Given the description of an element on the screen output the (x, y) to click on. 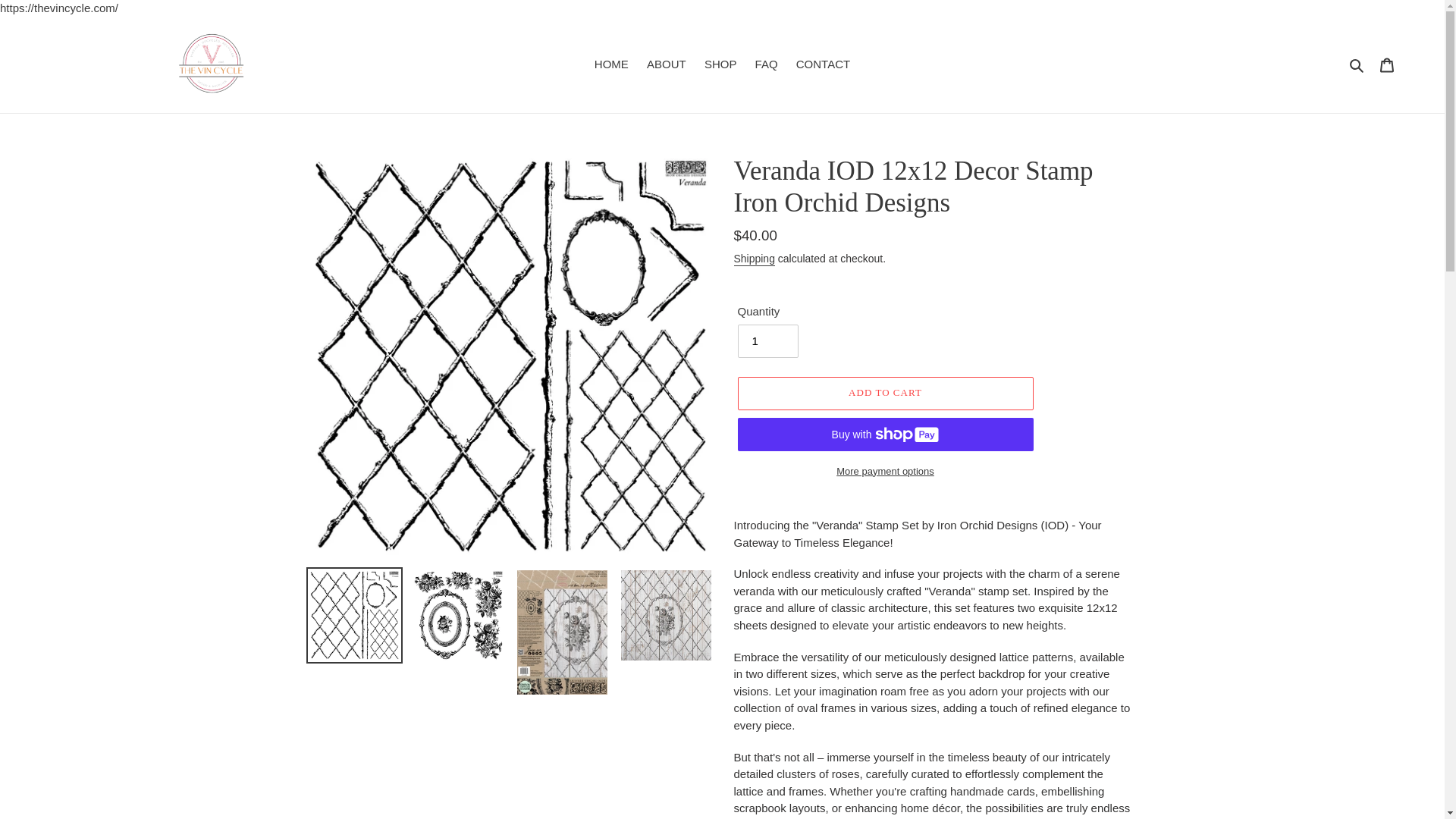
1 (766, 340)
ADD TO CART (884, 393)
More payment options (884, 471)
FAQ (767, 65)
Shipping (753, 259)
ABOUT (666, 65)
Search (1357, 64)
HOME (611, 65)
Cart (1387, 64)
CONTACT (823, 65)
